Given the description of an element on the screen output the (x, y) to click on. 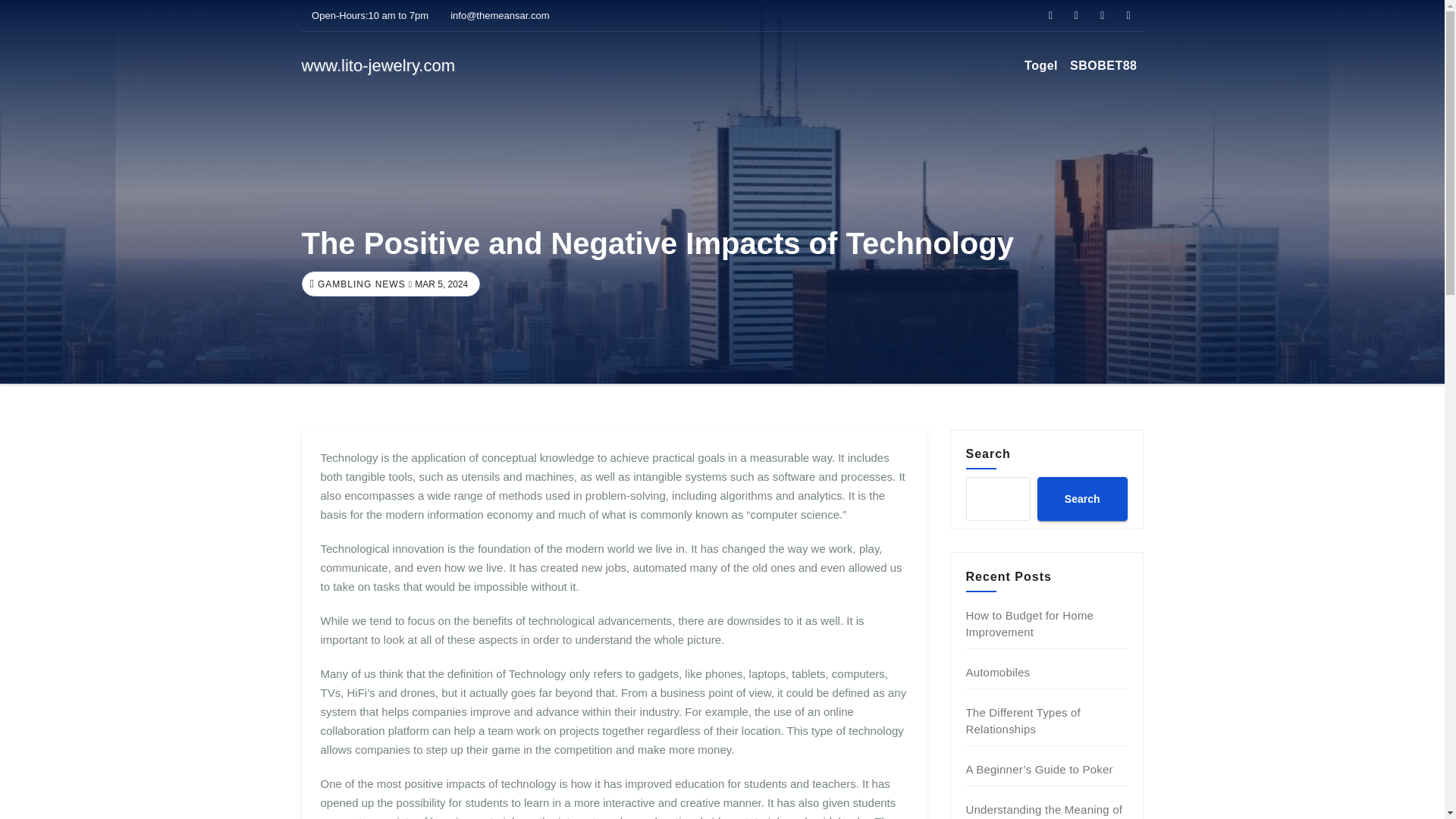
Automobiles (998, 671)
Understanding the Meaning of Technology (1044, 811)
SBOBET88 (1103, 65)
www.lito-jewelry.com (378, 65)
How to Budget for Home Improvement (1030, 623)
GAMBLING NEWS (360, 284)
Open-Hours:10 am to 7pm (365, 15)
Search (1081, 498)
SBOBET88 (1103, 65)
The Different Types of Relationships (1023, 720)
